Given the description of an element on the screen output the (x, y) to click on. 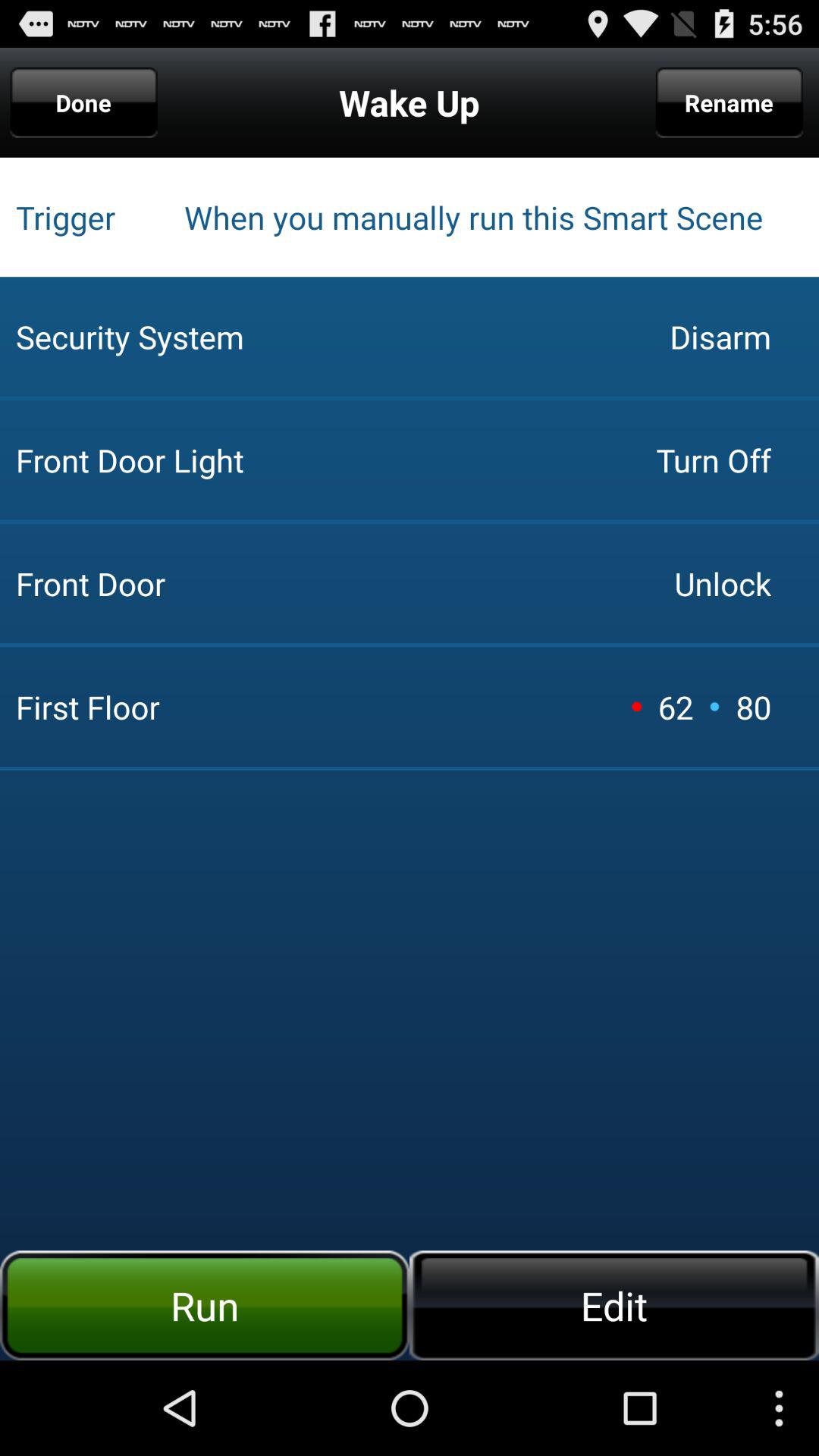
open icon next to the 62 icon (636, 706)
